Given the description of an element on the screen output the (x, y) to click on. 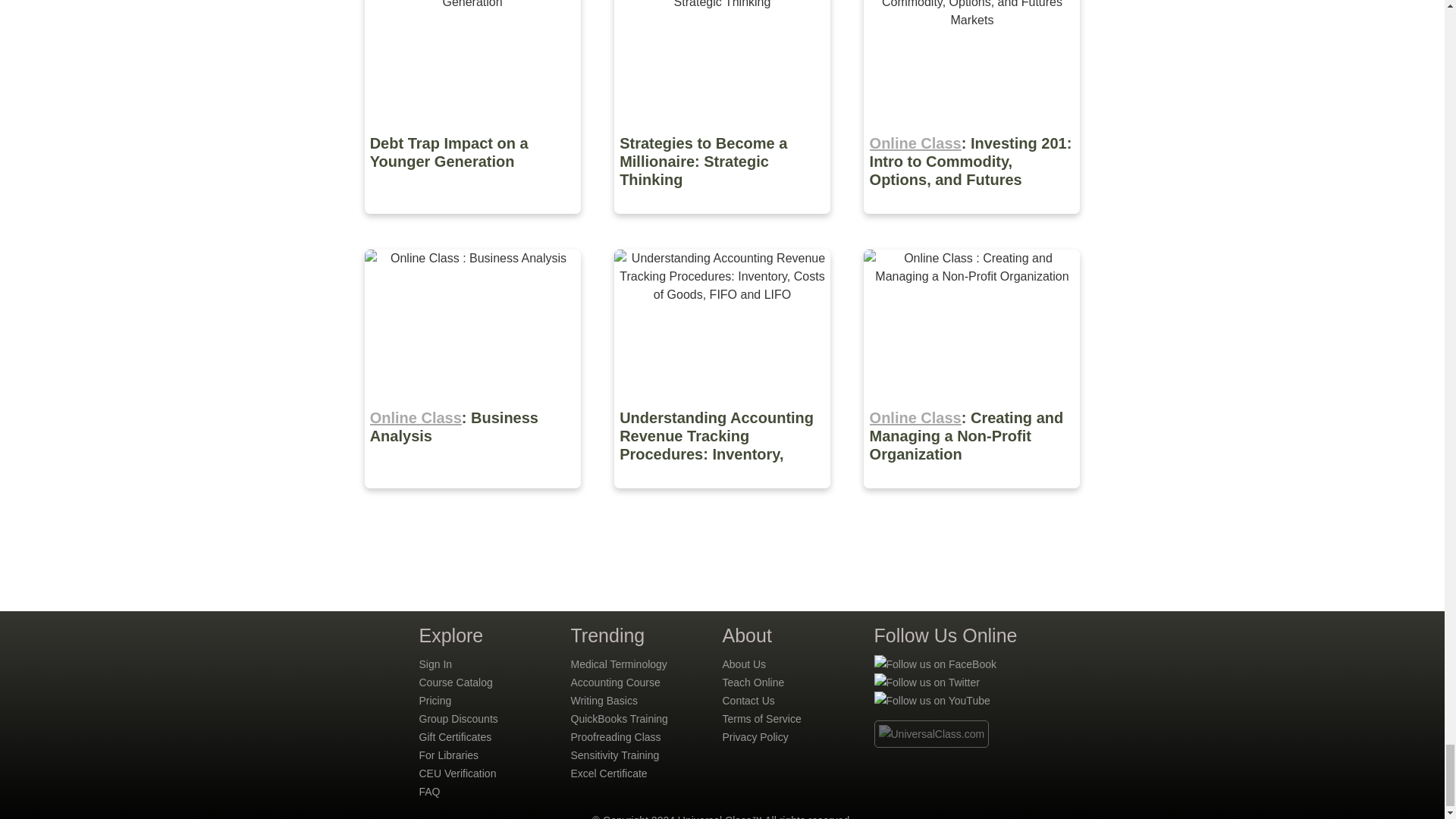
Online Class: Business Analysis (473, 499)
Strategies to Become a Millionaire: Strategic Thinking (723, 224)
Debt Trap Impact on a Younger Generation (473, 224)
